Given the description of an element on the screen output the (x, y) to click on. 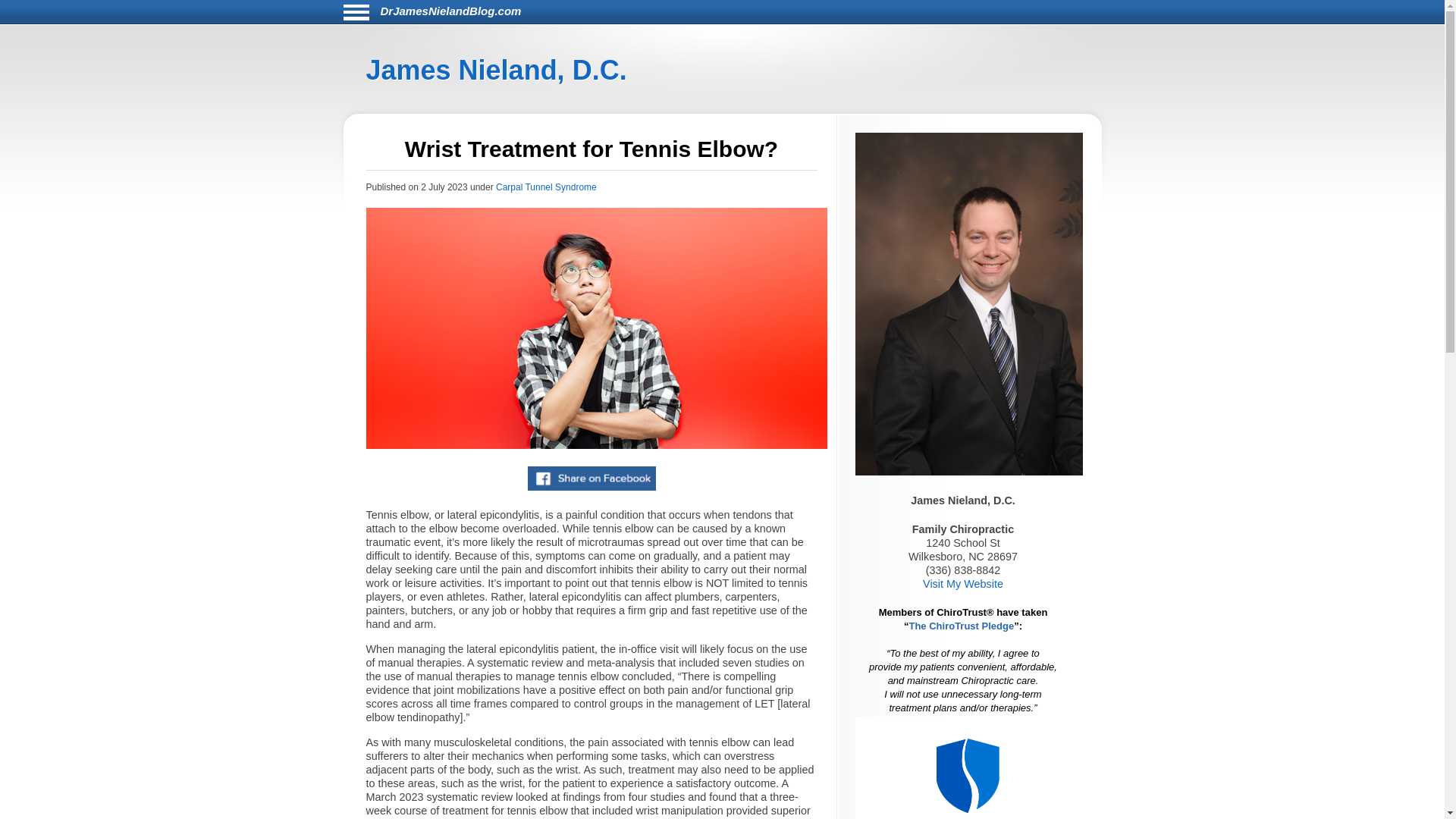
View all posts in Carpal Tunnel Syndrome (546, 186)
DrJamesNielandBlog.com (450, 10)
Carpal Tunnel Syndrome (546, 186)
Visit My Website (963, 583)
Facebook Share Button (591, 478)
Convenient, Affordable, Mainstream (970, 767)
Wrist Treatment for Tennis Elbow? (596, 328)
James Nieland, D.C. (495, 69)
